Given the description of an element on the screen output the (x, y) to click on. 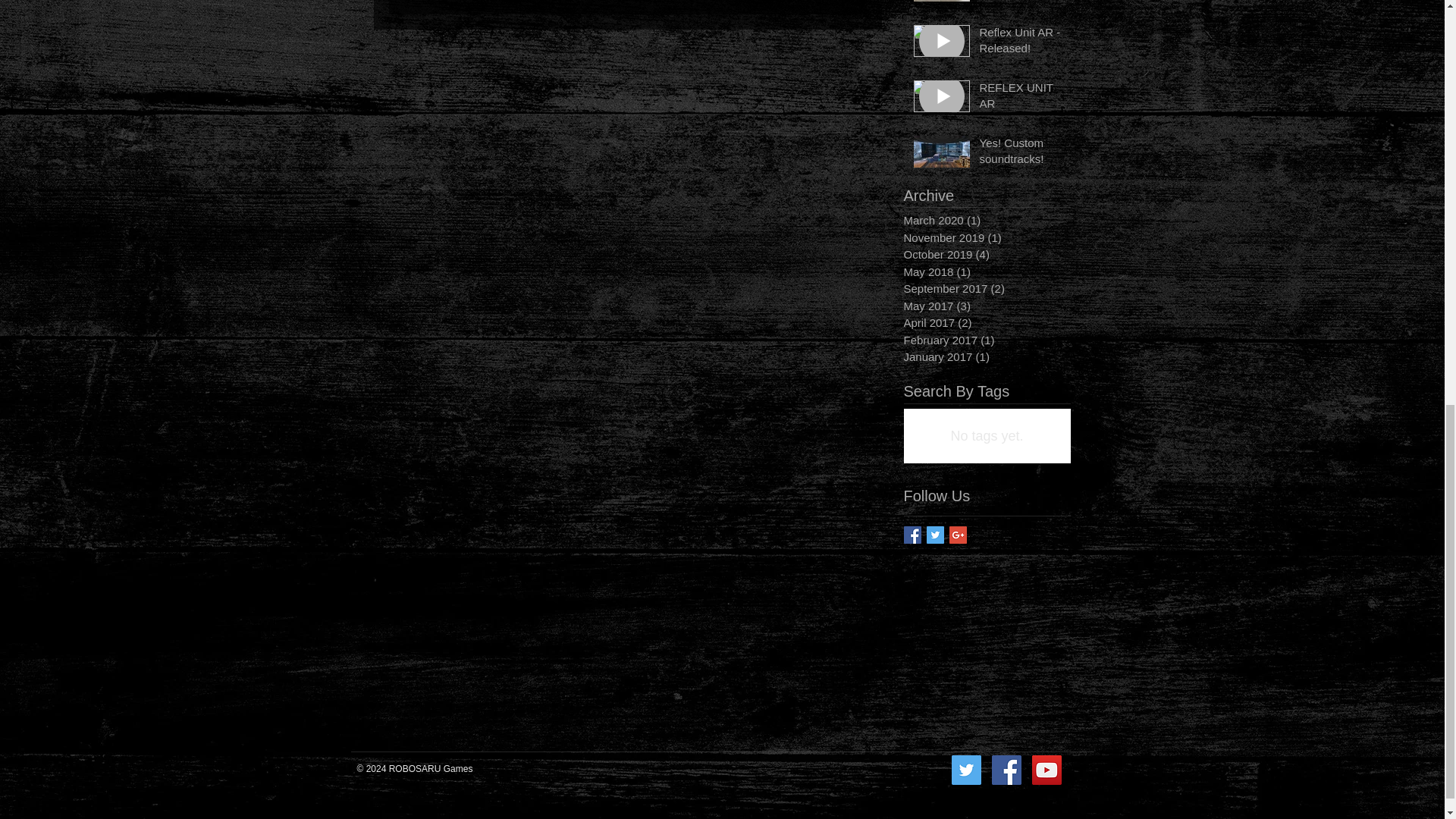
Yes! Custom soundtracks! (1020, 153)
Reflex Unit AR - Released! (1020, 43)
Oculus GO Launches Today! (1020, 2)
REFLEX UNIT AR (1020, 98)
